Given the description of an element on the screen output the (x, y) to click on. 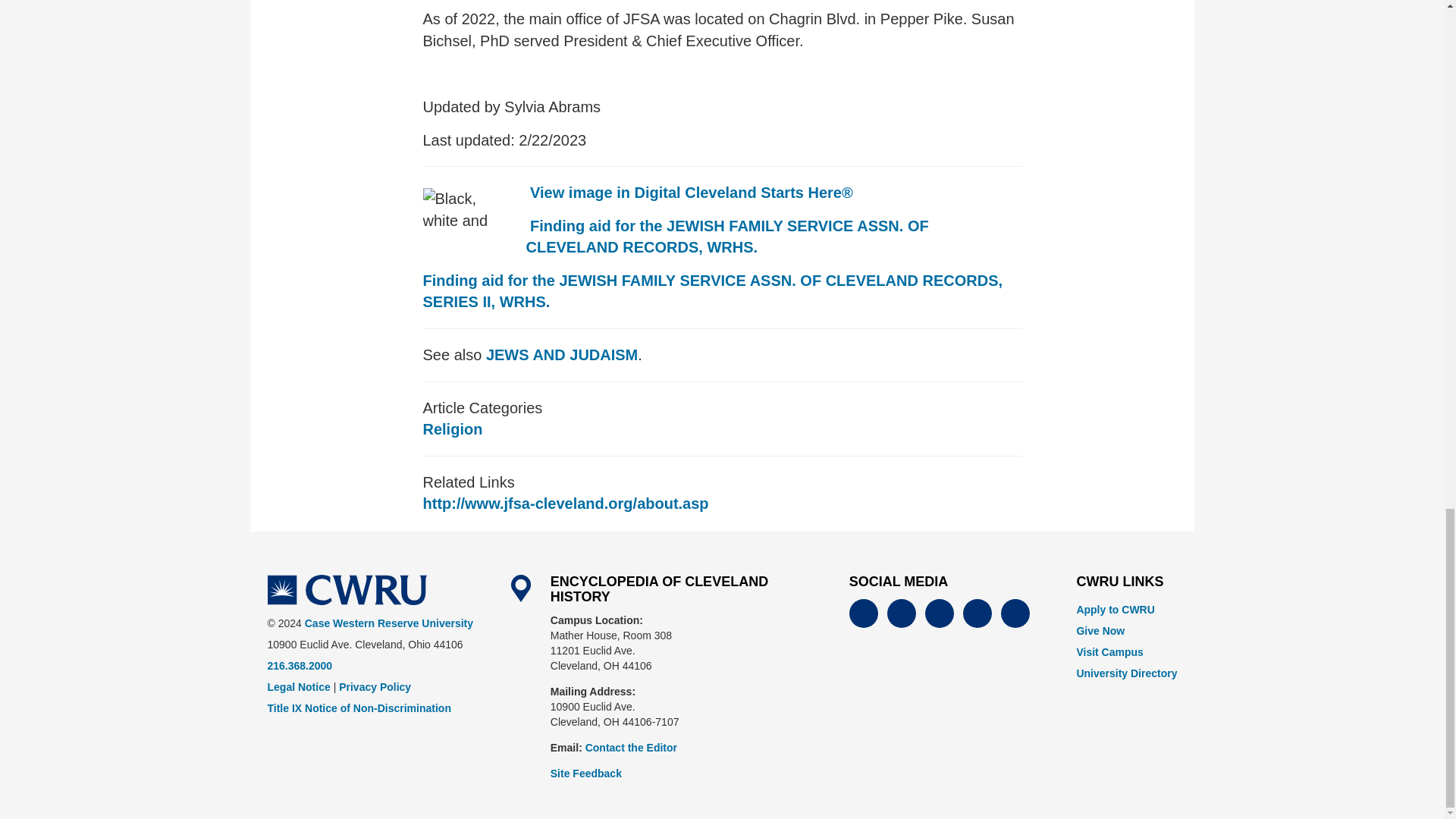
Case Western Reserve University (346, 589)
CWRU Youtube (938, 613)
CWRU Facebook (862, 613)
CWRU Pinterest (1015, 613)
CWRU Twitter (900, 613)
CWRU Instagram (976, 613)
